Given the description of an element on the screen output the (x, y) to click on. 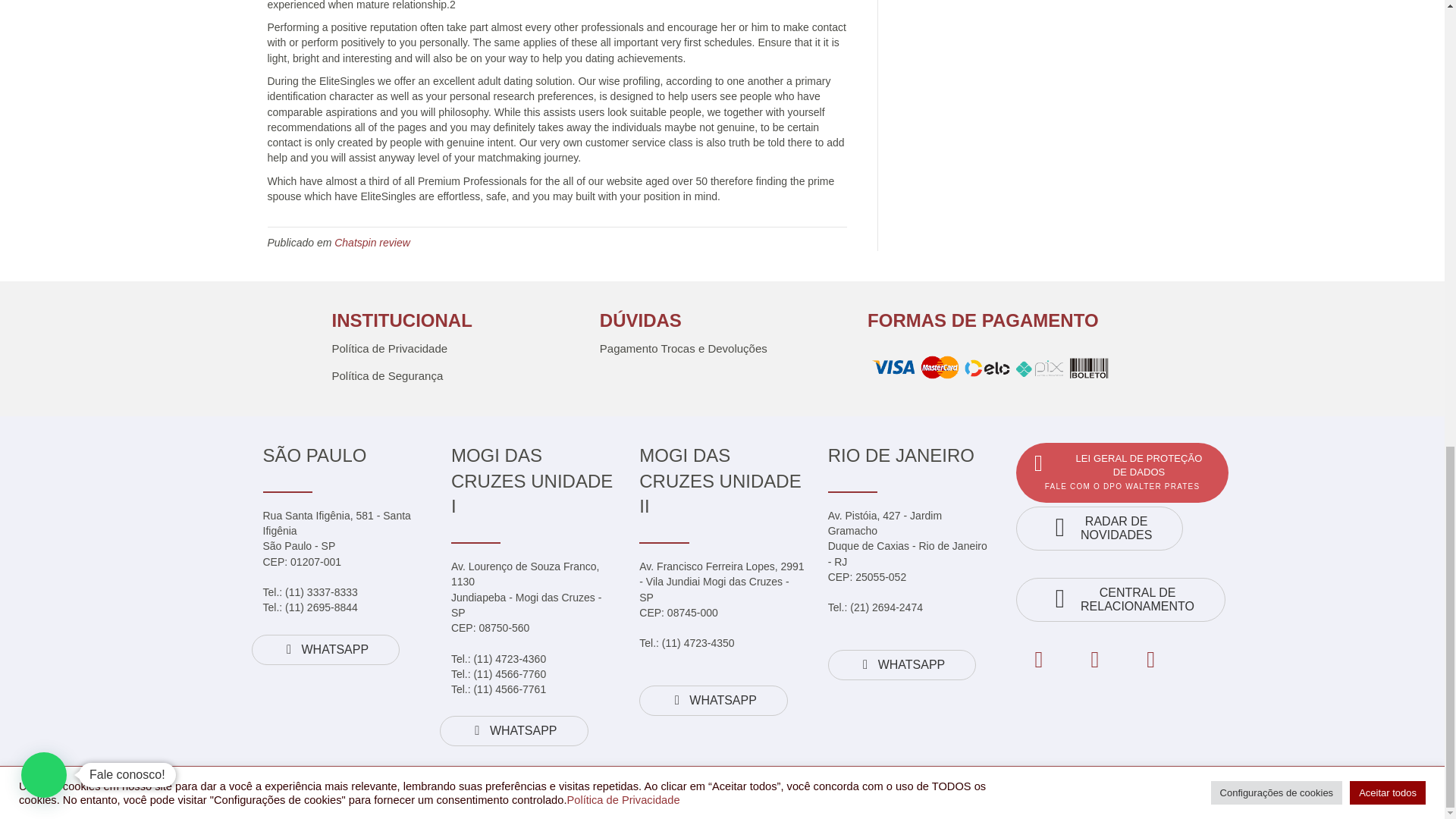
pagamento (989, 369)
Instagram (1094, 659)
YouTube (1150, 659)
Facebook (1038, 659)
